Given the description of an element on the screen output the (x, y) to click on. 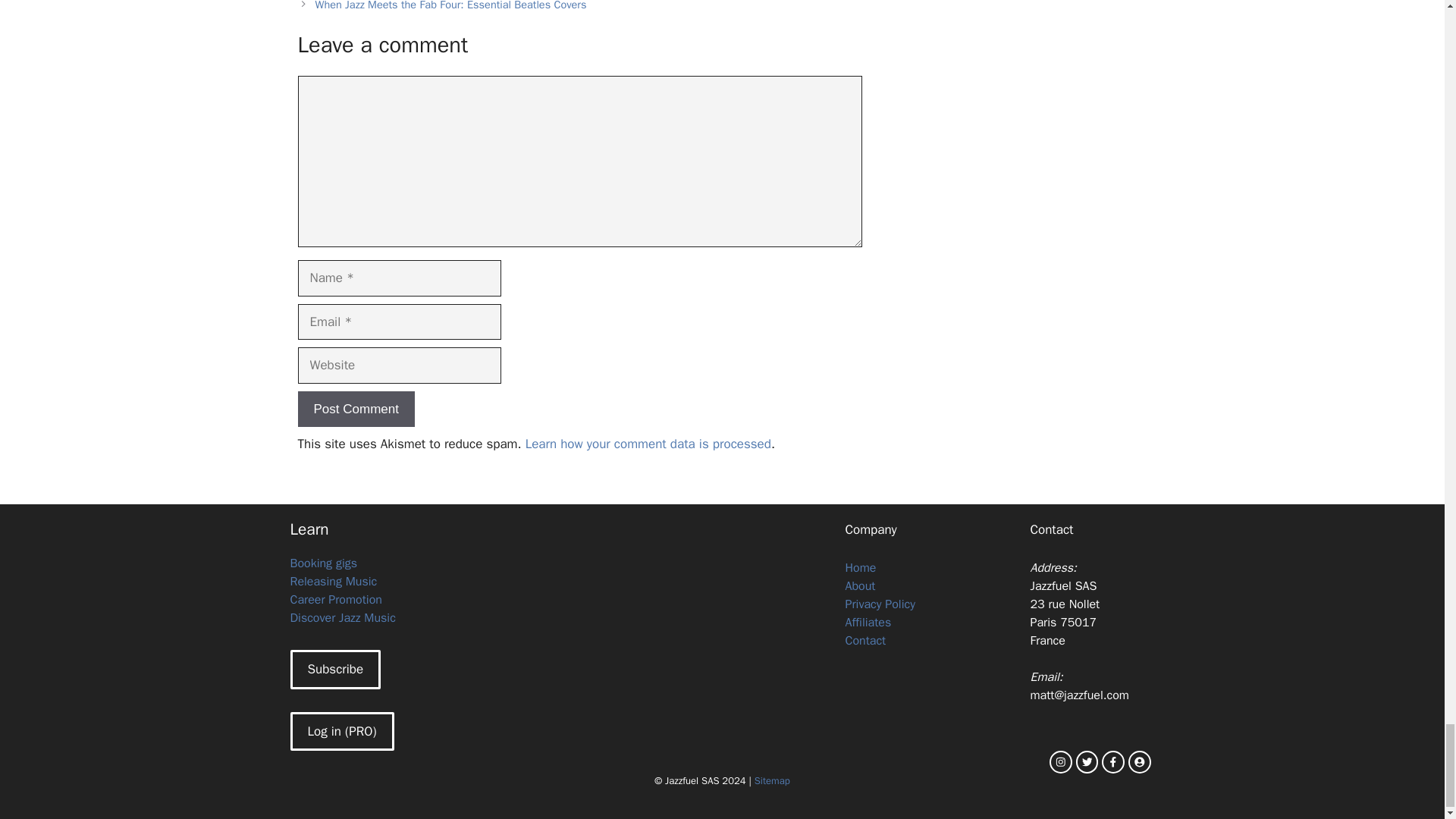
Post Comment (355, 409)
When Jazz Meets the Fab Four: Essential Beatles Covers (450, 5)
Post Comment (355, 409)
